Given the description of an element on the screen output the (x, y) to click on. 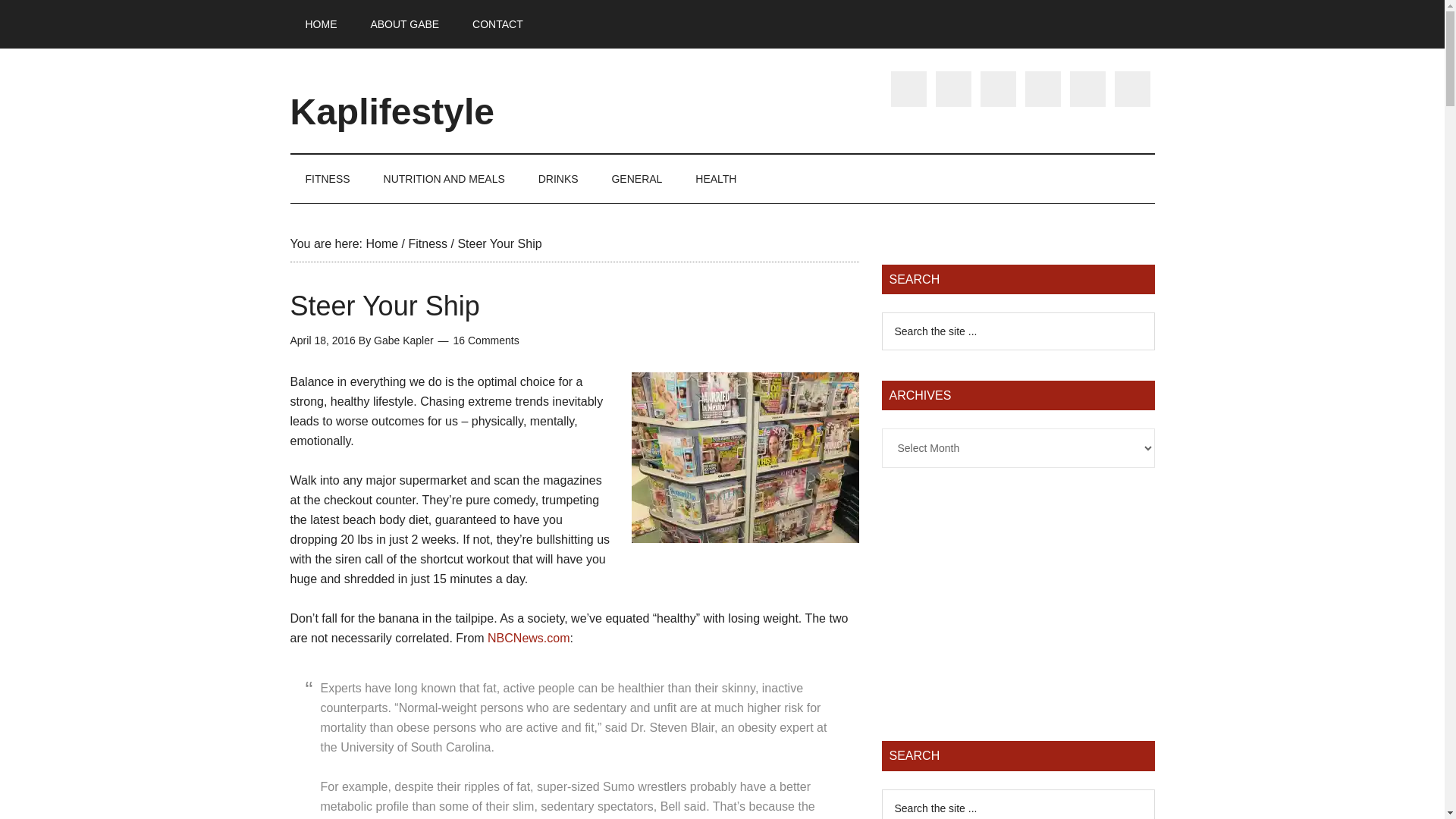
GENERAL (636, 178)
CONTACT (497, 24)
NBCNews.com (528, 637)
HOME (320, 24)
16 Comments (485, 340)
Fitness (426, 243)
Home (381, 243)
HEALTH (715, 178)
Kaplifestyle (391, 111)
Gabe Kapler (403, 340)
ABOUT GABE (404, 24)
FITNESS (327, 178)
Advertisement (1017, 603)
DRINKS (558, 178)
